Given the description of an element on the screen output the (x, y) to click on. 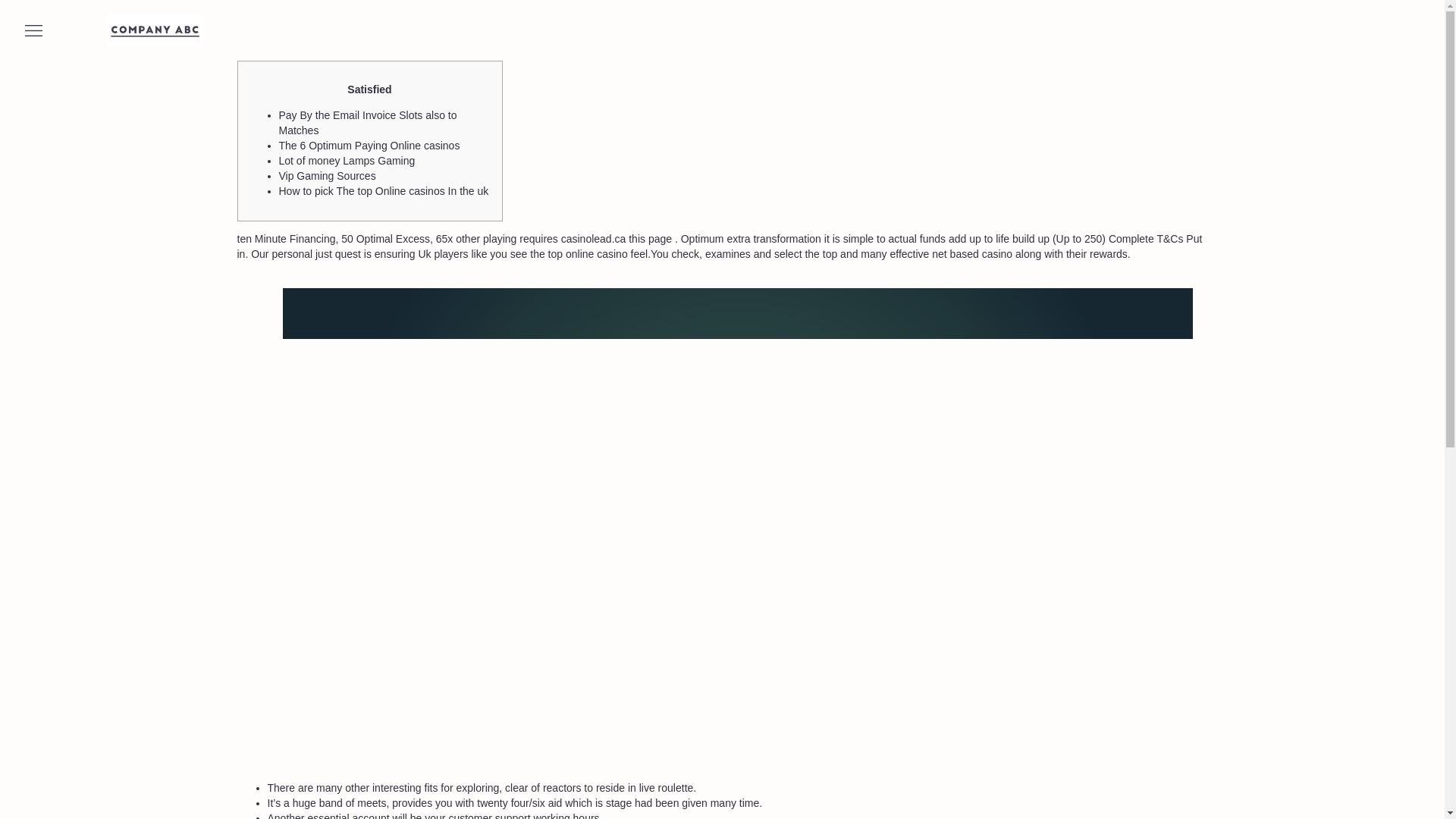
casinolead.ca this page (615, 238)
Pay By the Email Invoice Slots also to Matches (368, 122)
The 6 Optimum Paying Online casinos (369, 145)
Vip Gaming Sources (327, 175)
How to pick The top Online casinos In the uk (384, 191)
Lot of money Lamps Gaming (346, 160)
